Given the description of an element on the screen output the (x, y) to click on. 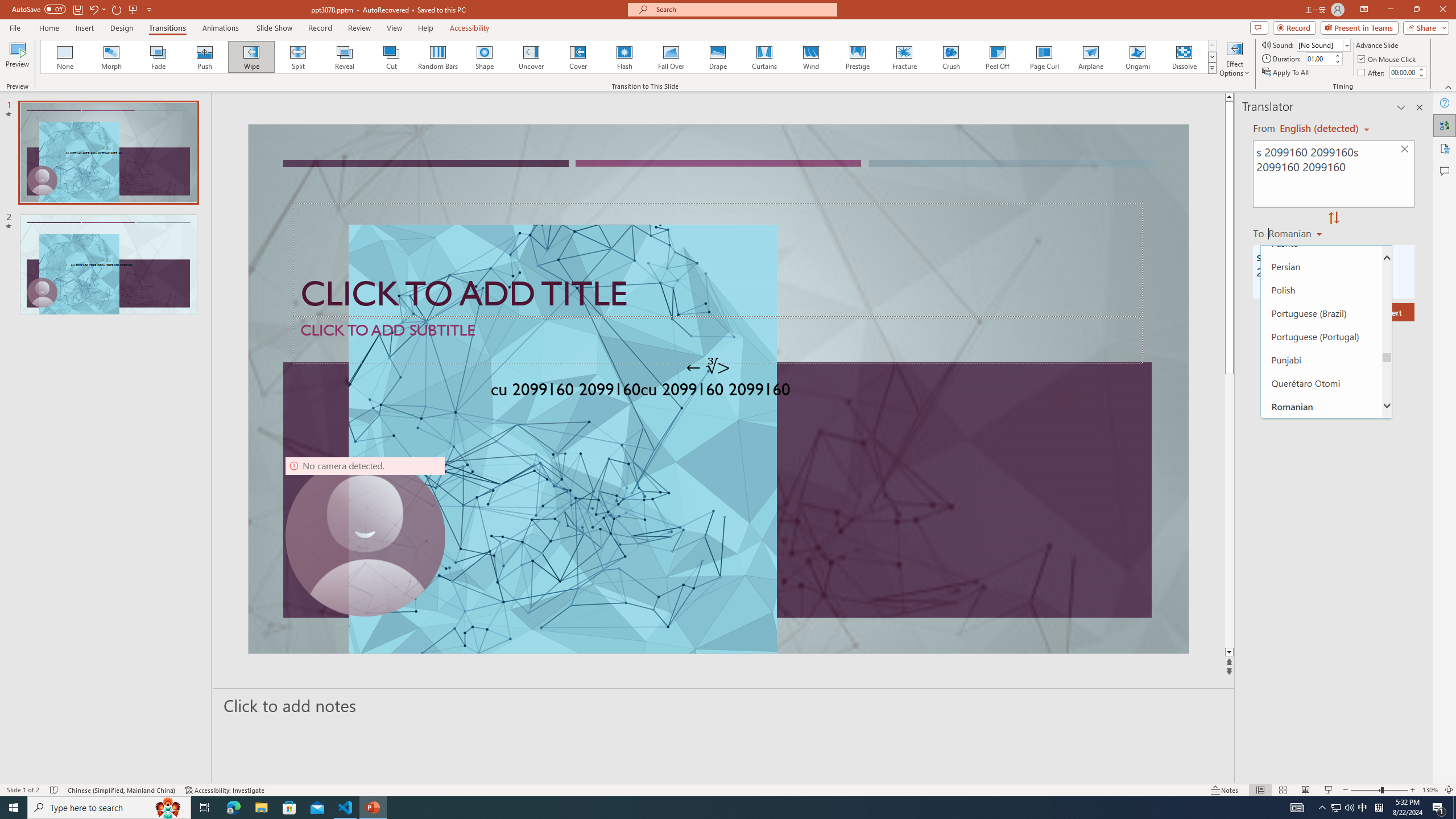
Wind (810, 56)
Curtains (764, 56)
Russian (1320, 452)
Fade (158, 56)
After (1403, 72)
Shape (484, 56)
Somali (1320, 731)
Fall Over (670, 56)
Flash (624, 56)
